Given the description of an element on the screen output the (x, y) to click on. 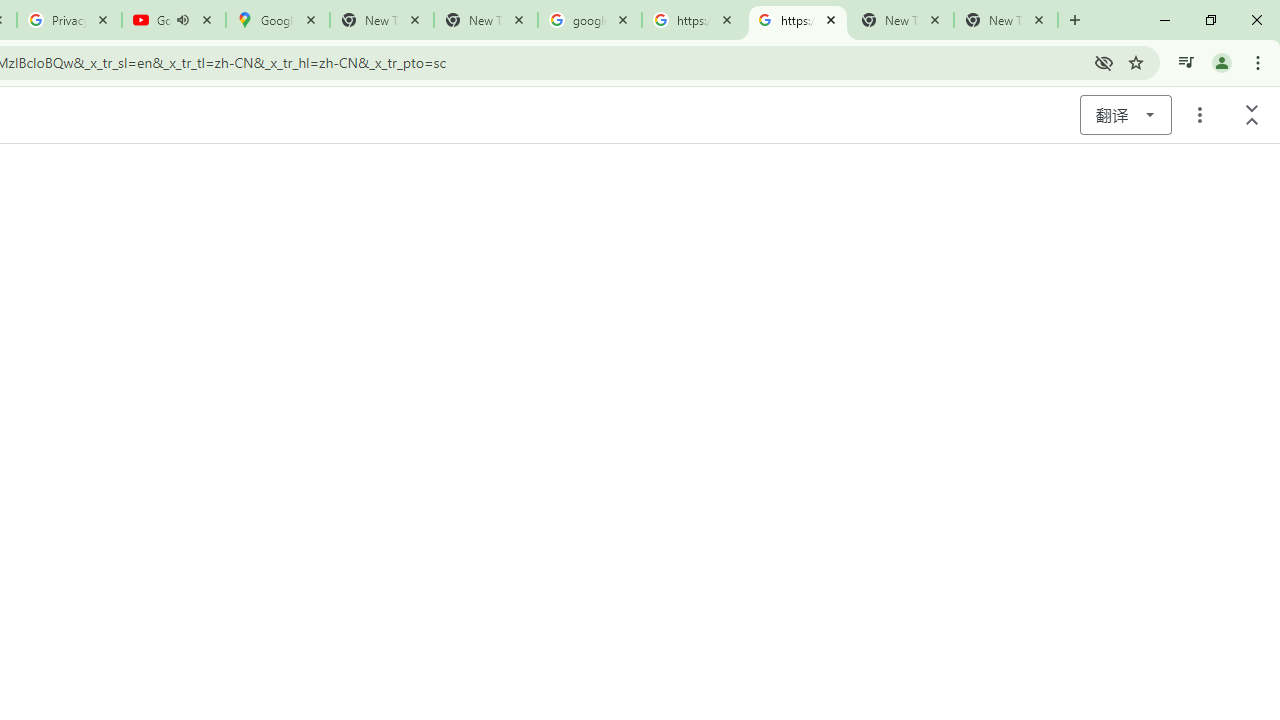
Google Maps (278, 20)
New Tab (1005, 20)
